Given the description of an element on the screen output the (x, y) to click on. 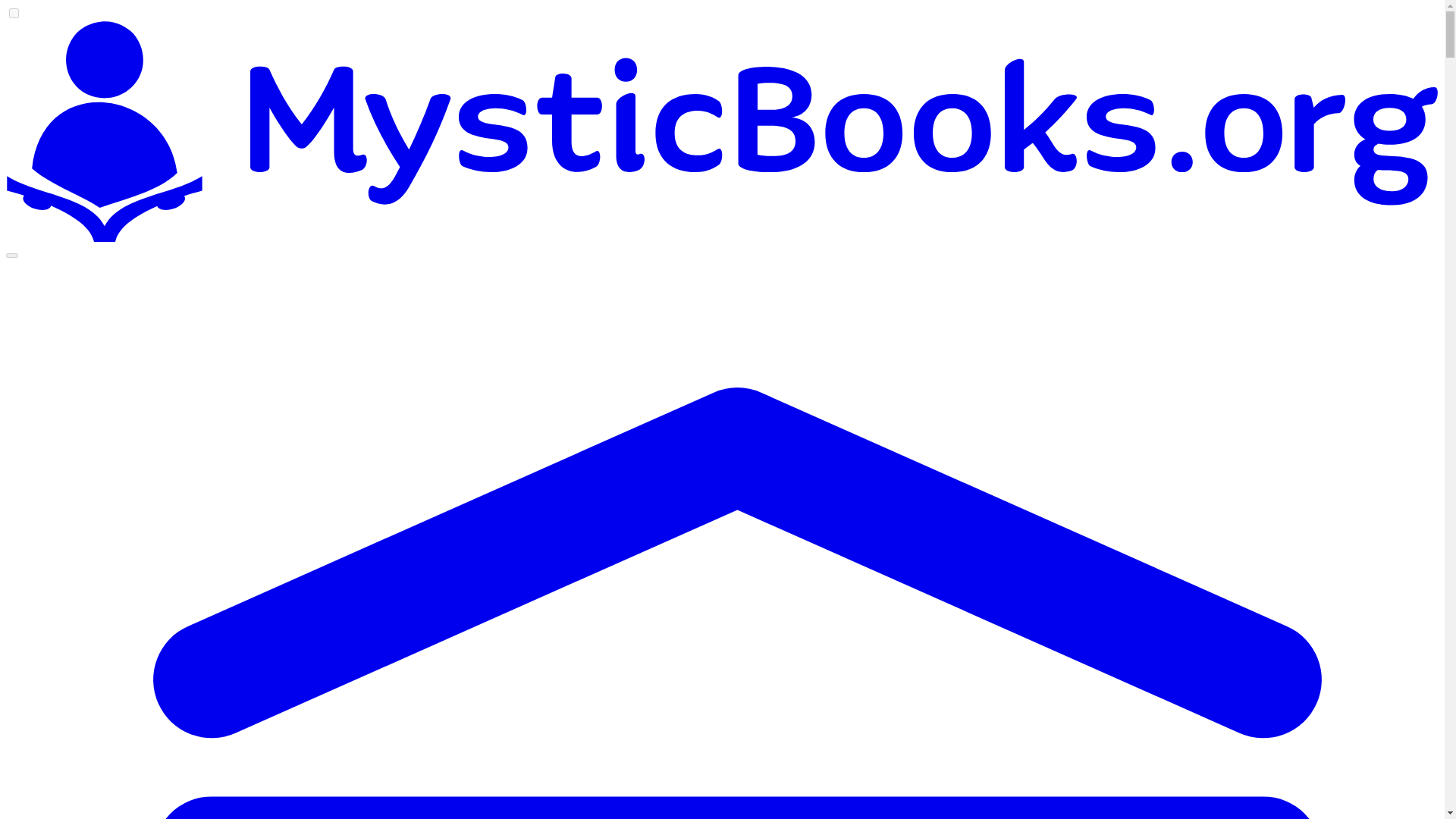
on (13, 13)
